Given the description of an element on the screen output the (x, y) to click on. 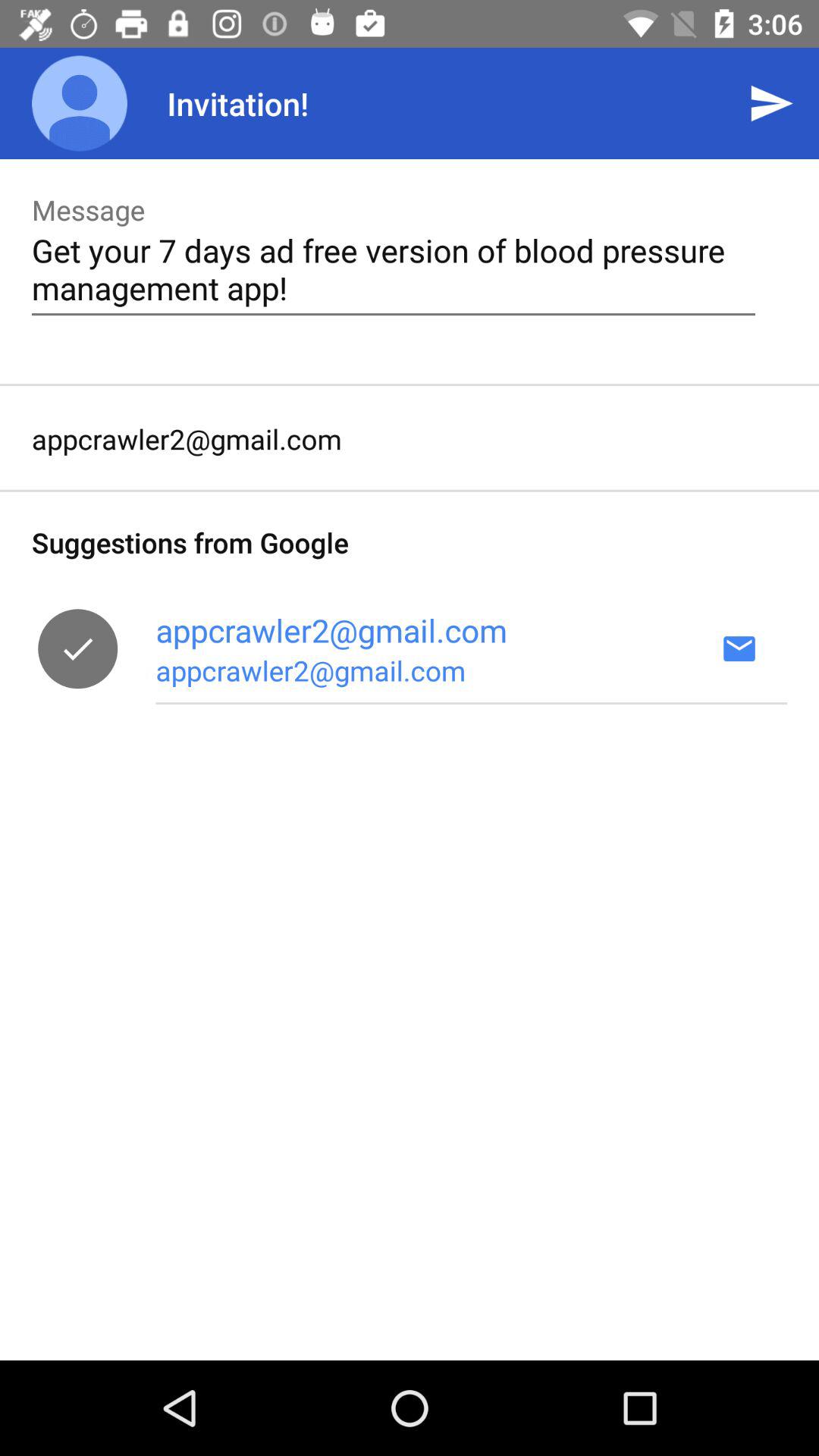
turn off the get your 7 (393, 268)
